Given the description of an element on the screen output the (x, y) to click on. 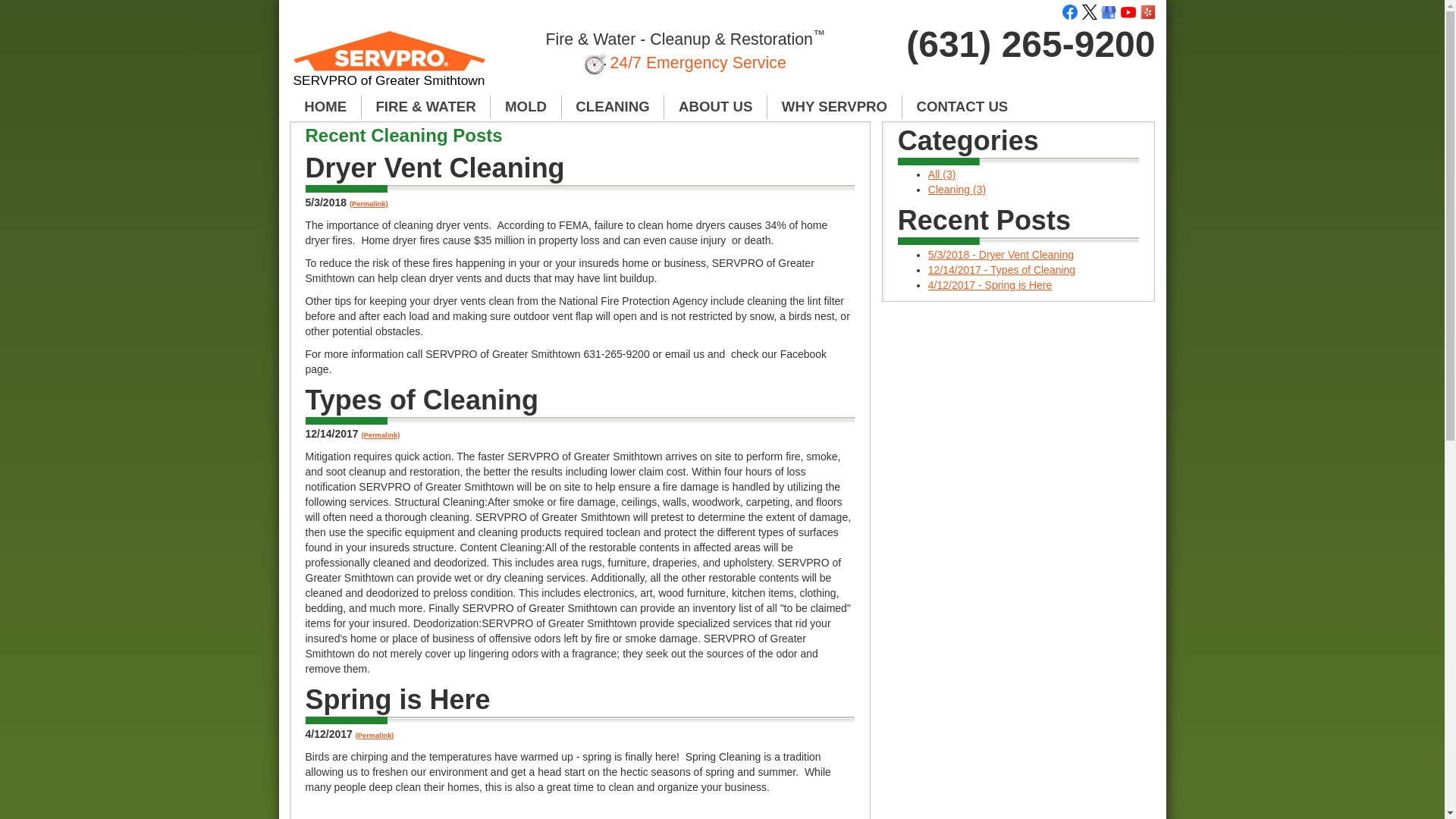
HOME (325, 107)
SERVPRO of Greater Smithtown (389, 65)
ABOUT US (715, 107)
CLEANING (613, 107)
MOLD (525, 107)
